Given the description of an element on the screen output the (x, y) to click on. 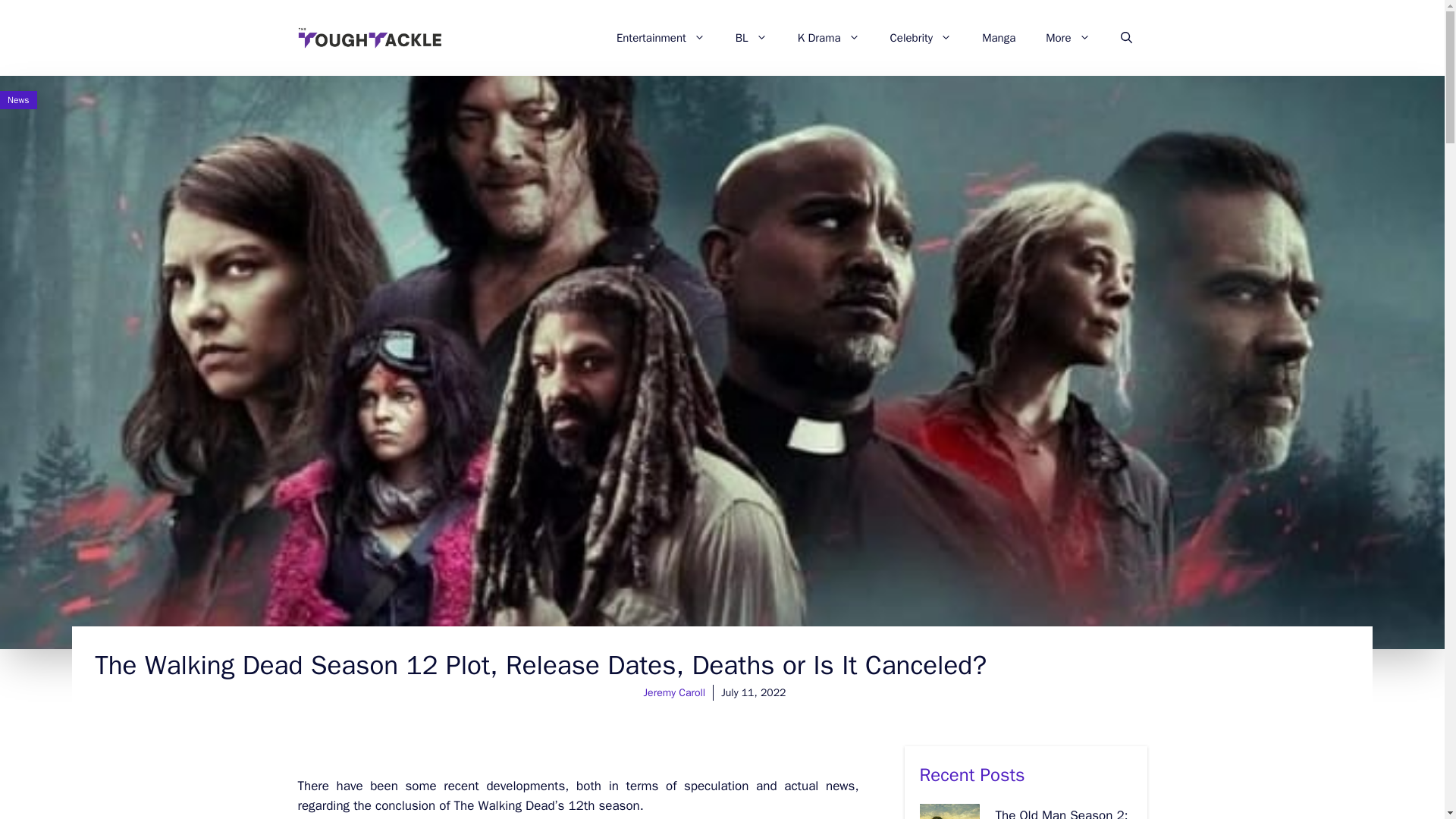
More (1067, 37)
Celebrity (921, 37)
News (18, 100)
Entertainment (660, 37)
K Drama (829, 37)
Jeremy Caroll (674, 692)
BL (751, 37)
Manga (998, 37)
